Given the description of an element on the screen output the (x, y) to click on. 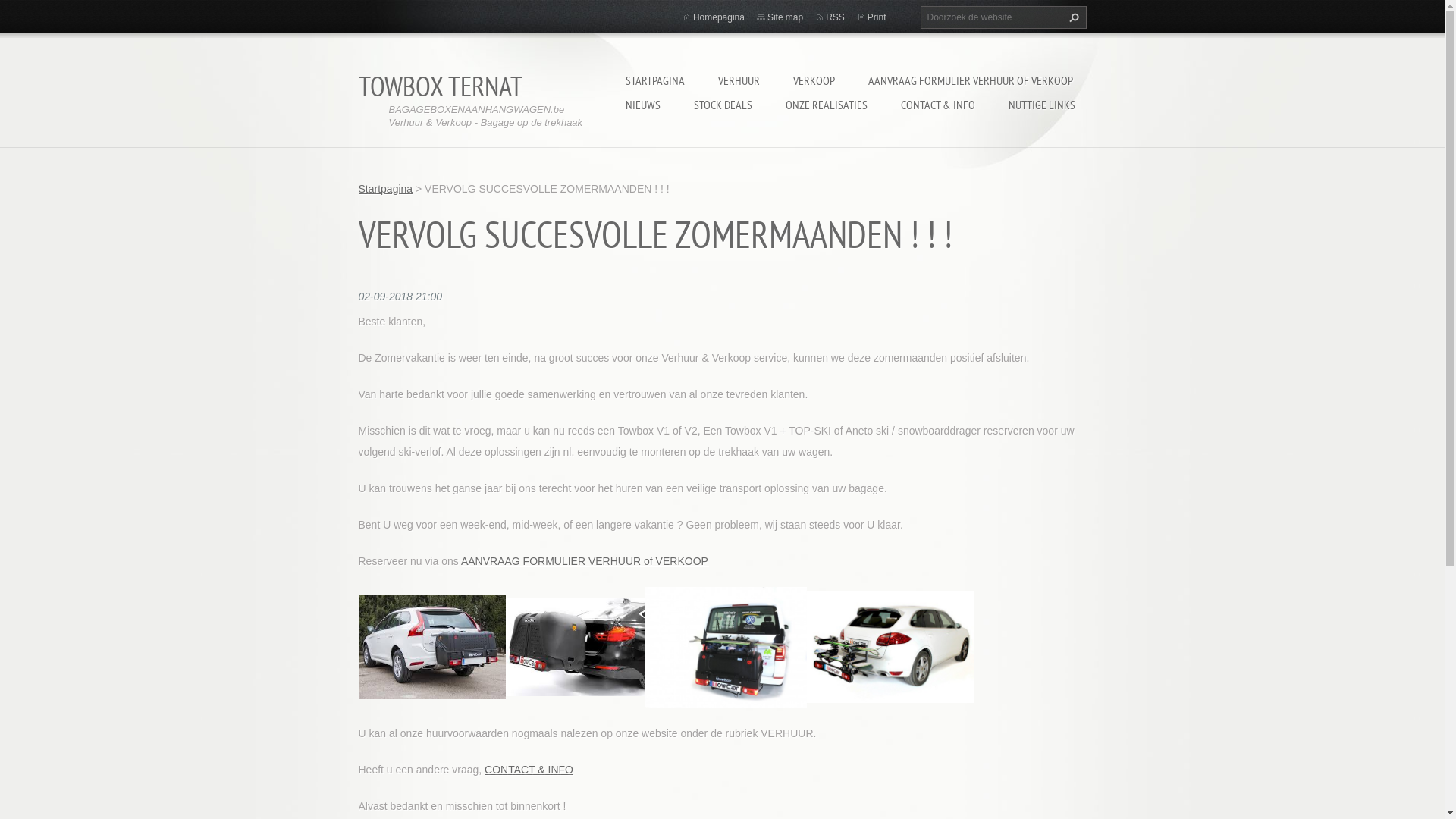
STARTPAGINA Element type: text (654, 80)
Startpagina Element type: text (384, 188)
Print Element type: text (876, 17)
CONTACT & INFO Element type: text (528, 768)
Homepagina Element type: text (718, 17)
AANVRAAG FORMULIER VERHUUR OF VERKOOP Element type: text (969, 80)
NUTTIGE LINKS Element type: text (1041, 104)
Site map Element type: text (785, 17)
NIEUWS Element type: text (641, 104)
CONTACT & INFO Element type: text (937, 104)
Zoeken Element type: text (1071, 17)
VERHUUR Element type: text (738, 80)
AANVRAAG FORMULIER VERHUUR of VERKOOP Element type: text (584, 561)
RSS Element type: text (834, 17)
ONZE REALISATIES Element type: text (826, 104)
STOCK DEALS Element type: text (722, 104)
VERKOOP Element type: text (814, 80)
TOWBOX TERNAT Element type: text (439, 85)
